Given the description of an element on the screen output the (x, y) to click on. 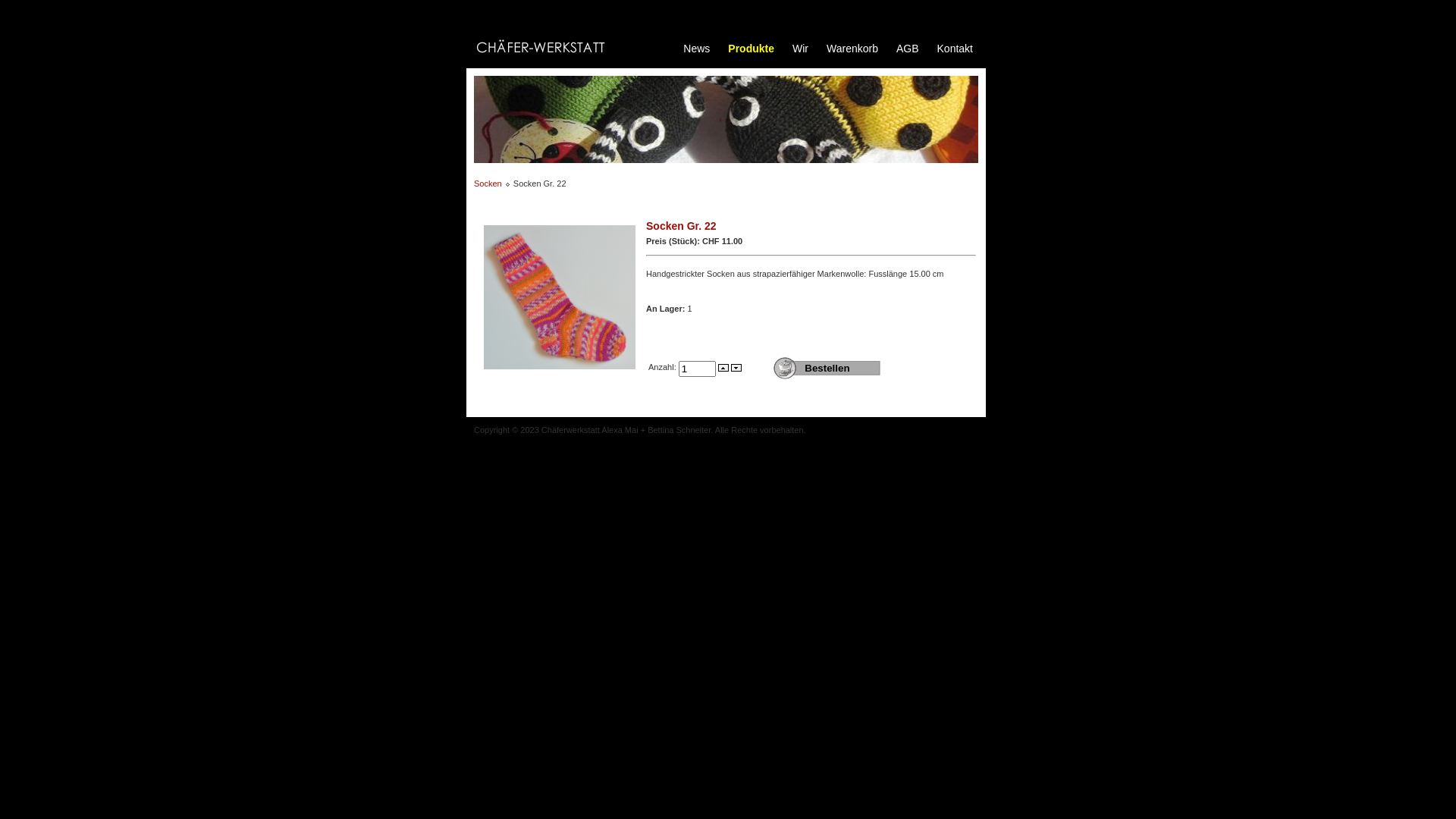
Home Element type: hover (545, 45)
Socken Element type: text (487, 183)
Bestellen Element type: text (826, 367)
Produkte Element type: text (750, 48)
News Element type: text (696, 48)
Bestellen Element type: hover (826, 367)
AGB Element type: text (907, 48)
Kontakt Element type: text (955, 48)
Wir Element type: text (800, 48)
Warenkorb Element type: text (852, 48)
